Given the description of an element on the screen output the (x, y) to click on. 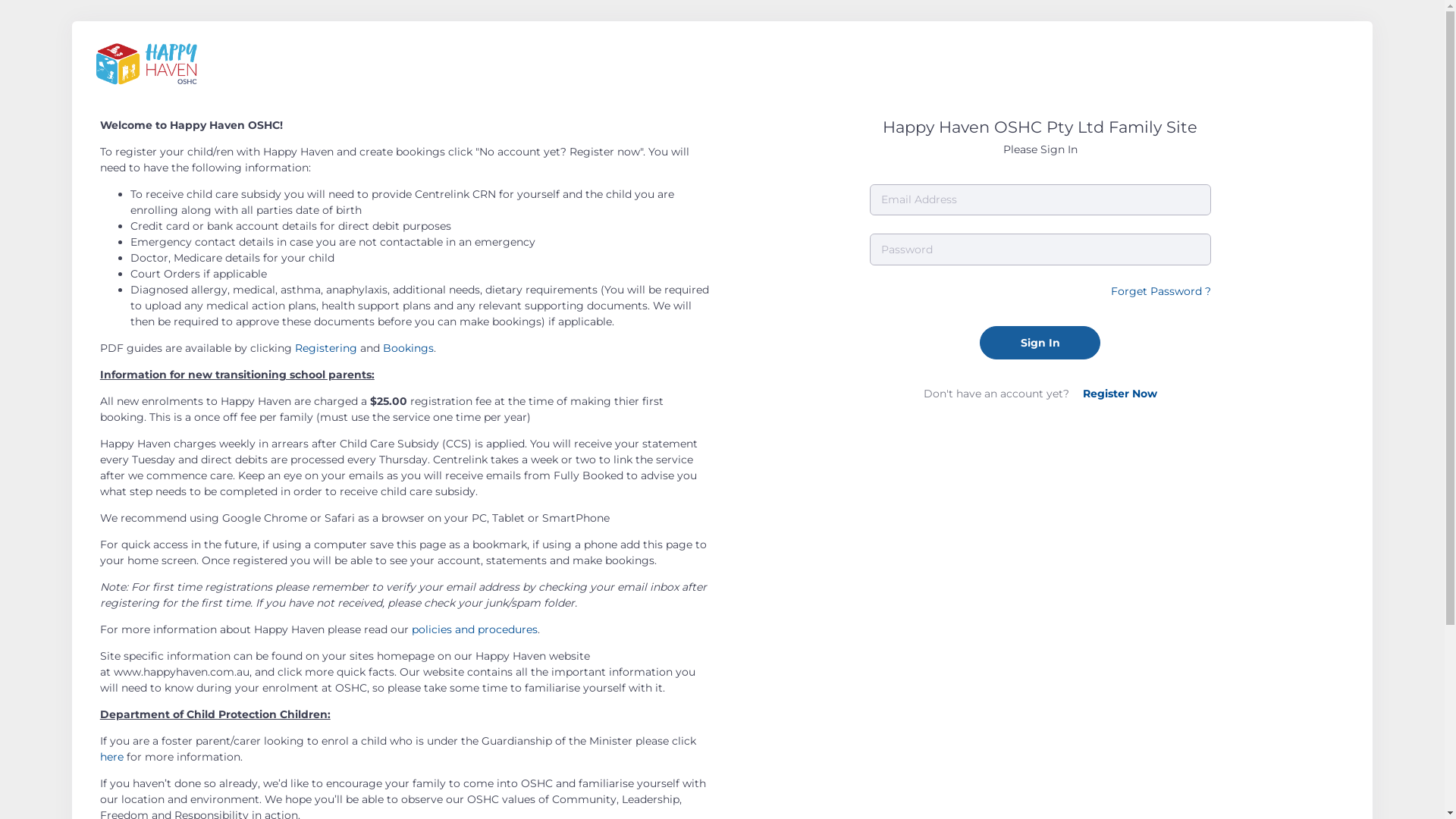
Registering Element type: text (325, 347)
Bookings Element type: text (407, 347)
policies and procedures Element type: text (474, 628)
Forget Password ? Element type: text (1160, 291)
here Element type: text (111, 755)
Sign In Element type: text (1039, 342)
Register Now Element type: text (1119, 393)
www.happyhaven.com.au, Element type: text (182, 670)
